Given the description of an element on the screen output the (x, y) to click on. 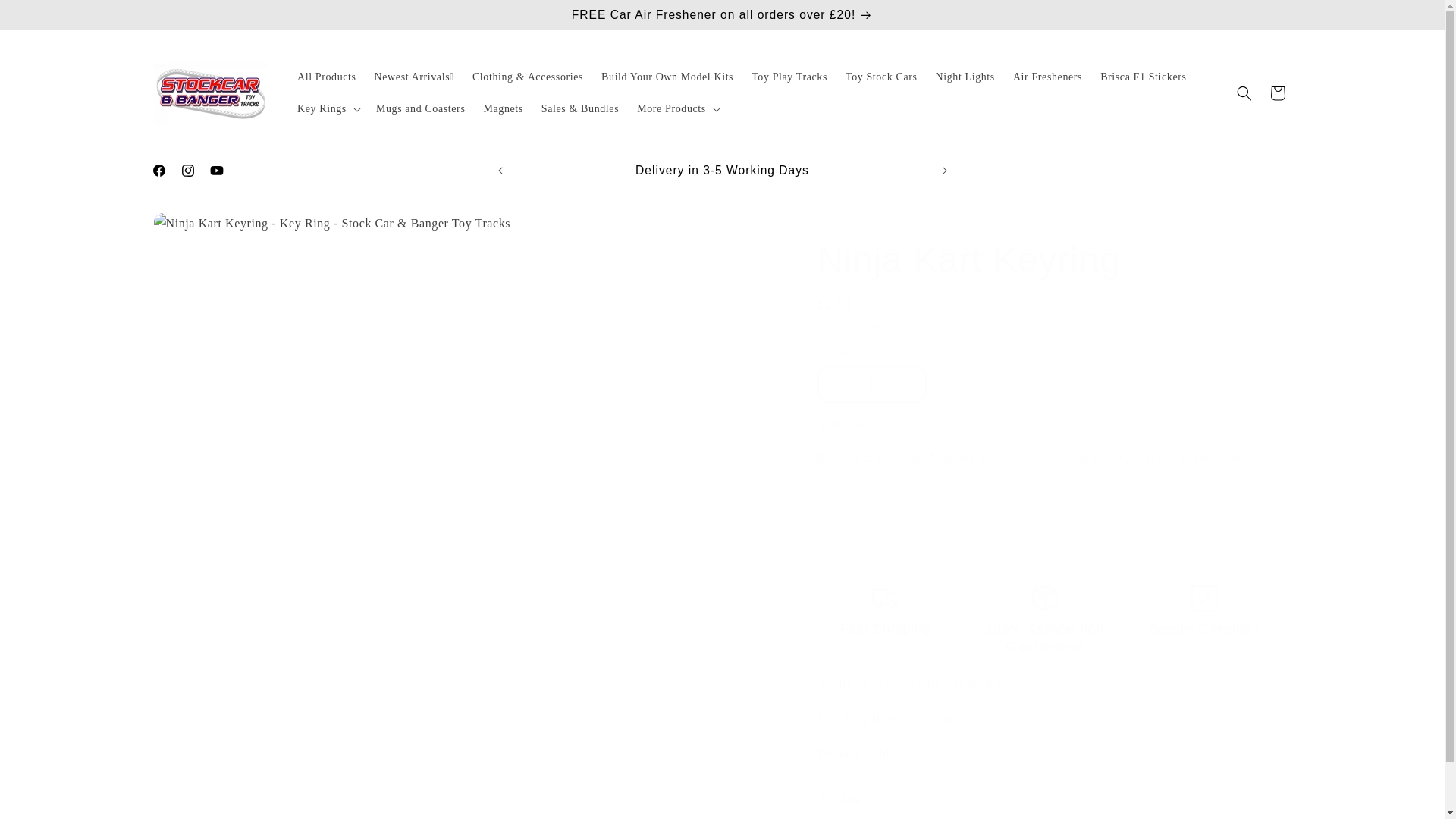
Build Your Own Model Kits (667, 77)
1 (870, 383)
Toy Stock Cars (880, 77)
Skip to content (45, 16)
All Products (326, 77)
Night Lights (965, 77)
Toy Play Tracks (788, 77)
